Given the description of an element on the screen output the (x, y) to click on. 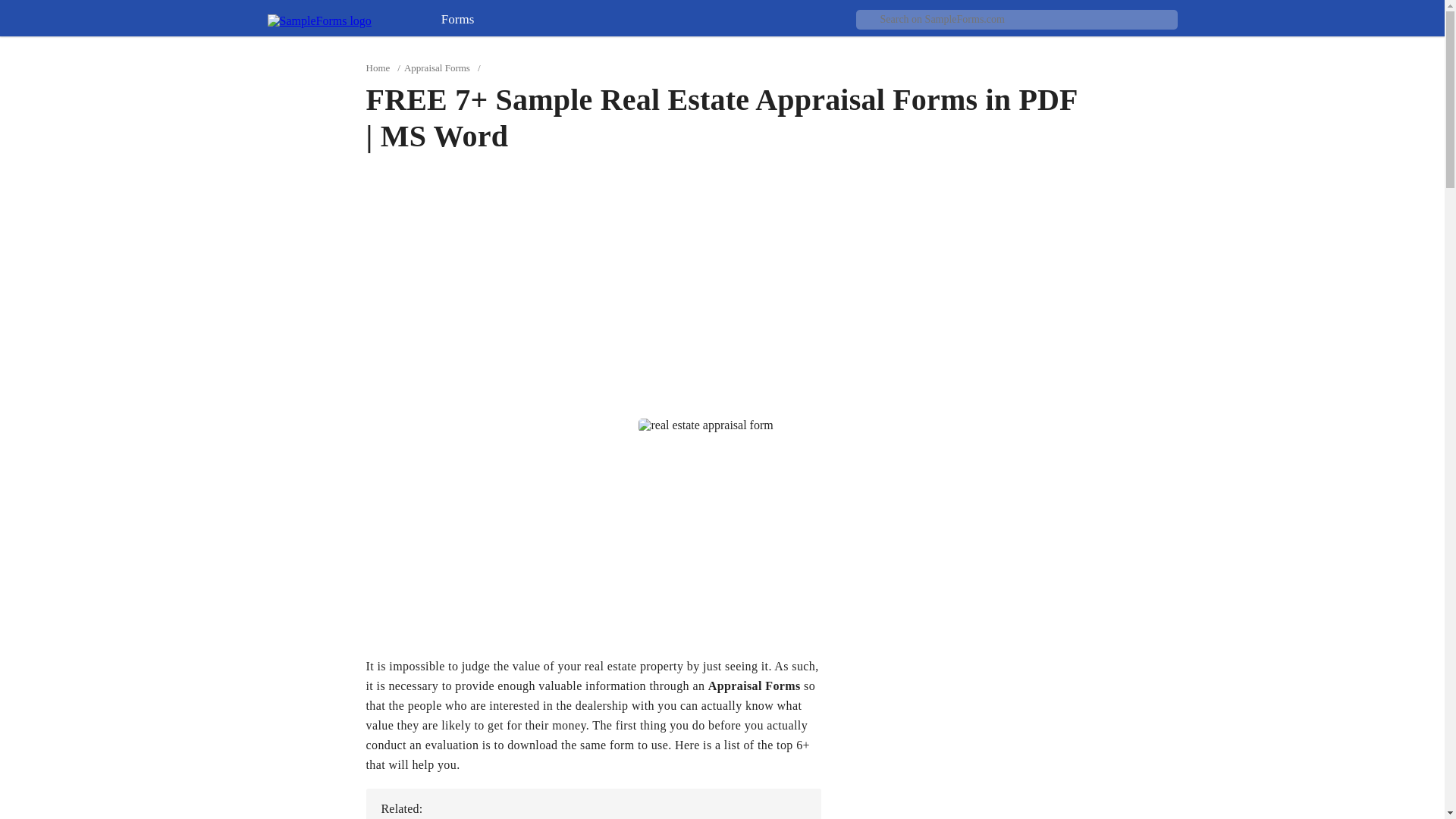
Home (377, 68)
real estate appraisal form (706, 425)
Forms (470, 23)
